Given the description of an element on the screen output the (x, y) to click on. 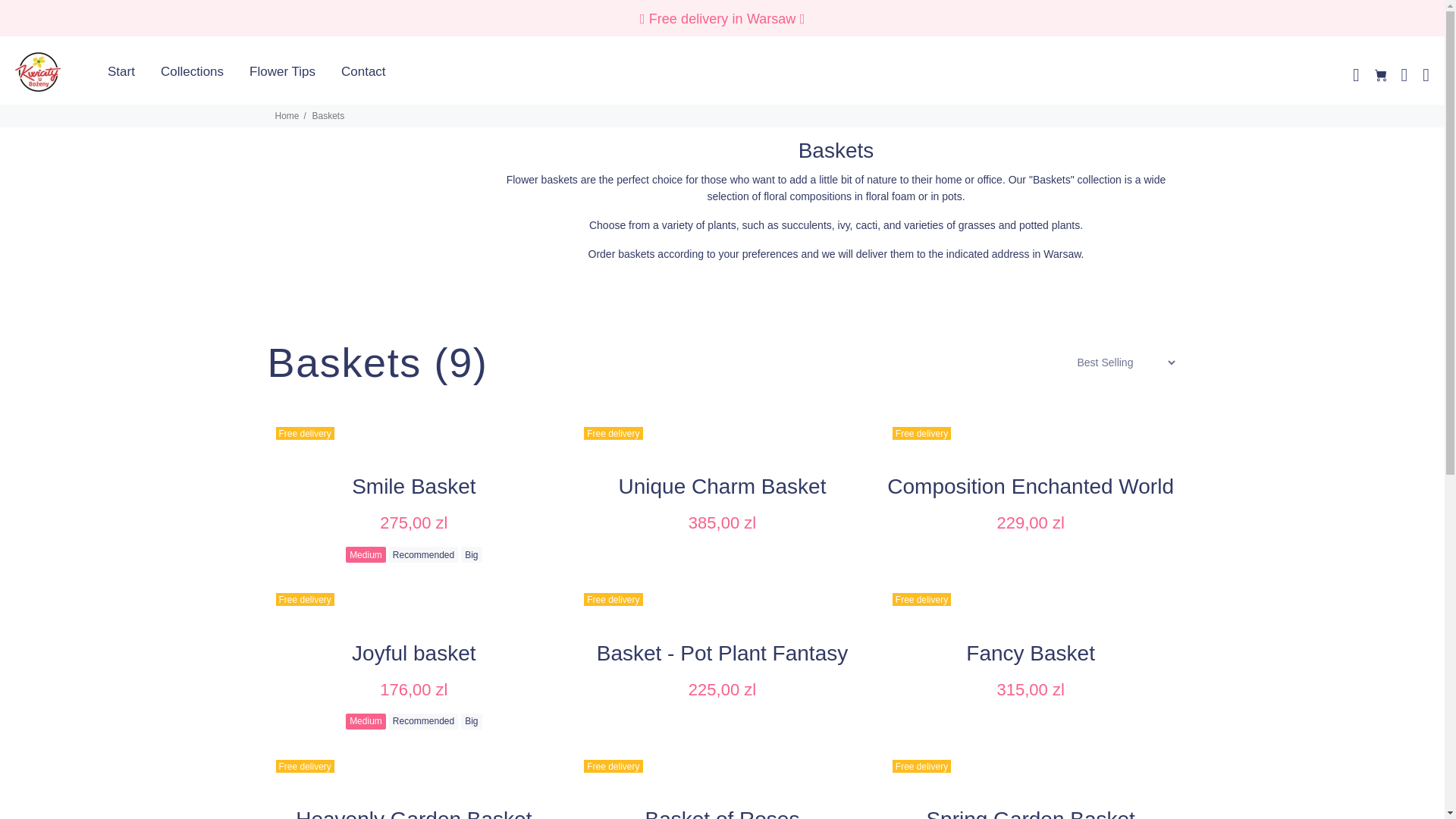
Recommended (423, 554)
Collections (191, 71)
Contact (357, 71)
Flower Tips (282, 71)
Big (471, 554)
Free delivery (413, 427)
Free delivery (721, 427)
Smile Basket (414, 486)
Start (123, 71)
Medium (365, 554)
